Given the description of an element on the screen output the (x, y) to click on. 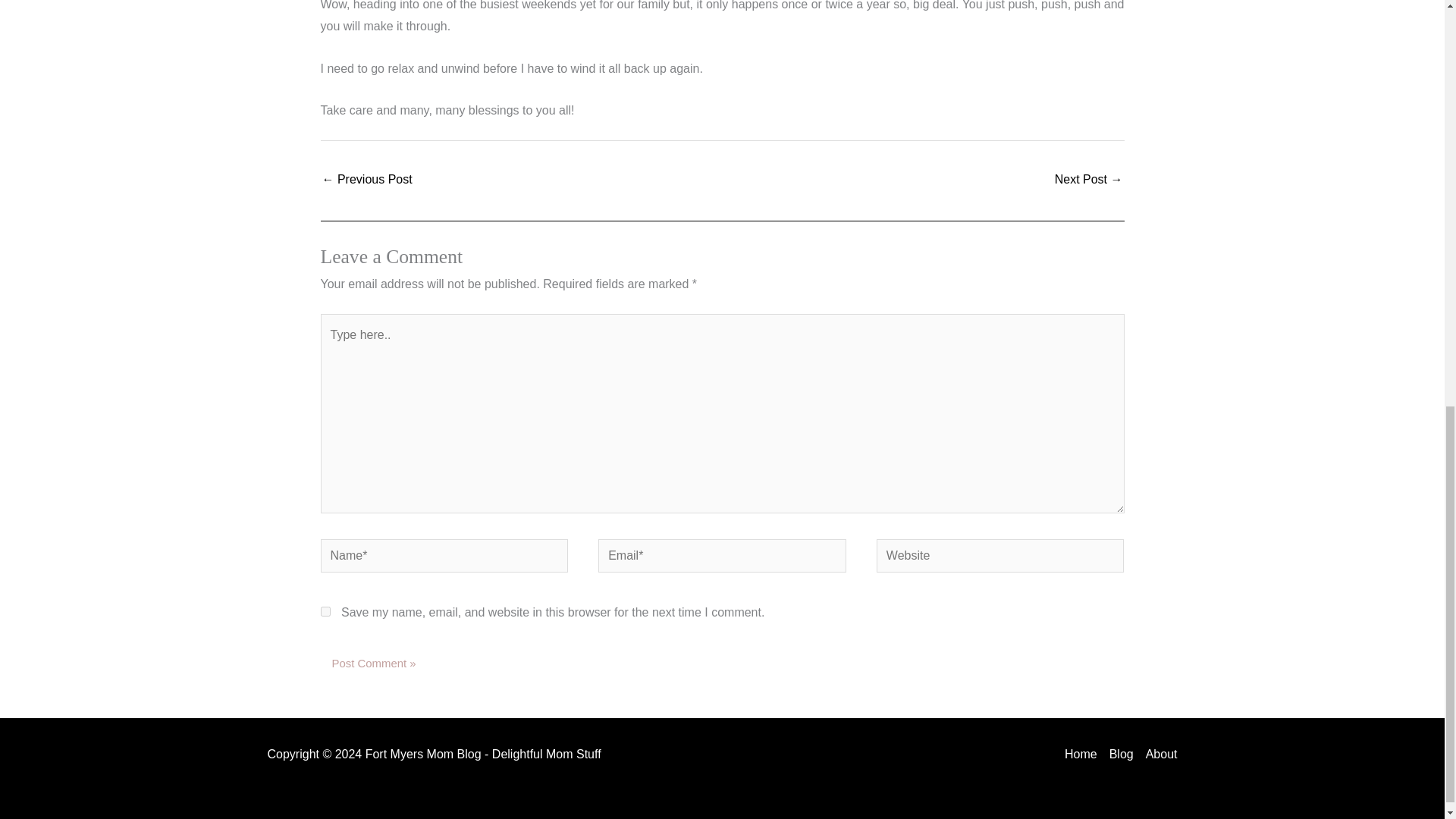
Blog (1121, 753)
Home (1083, 753)
About (1158, 753)
yes (325, 611)
Through the Eyes of a Child! (1088, 180)
